Given the description of an element on the screen output the (x, y) to click on. 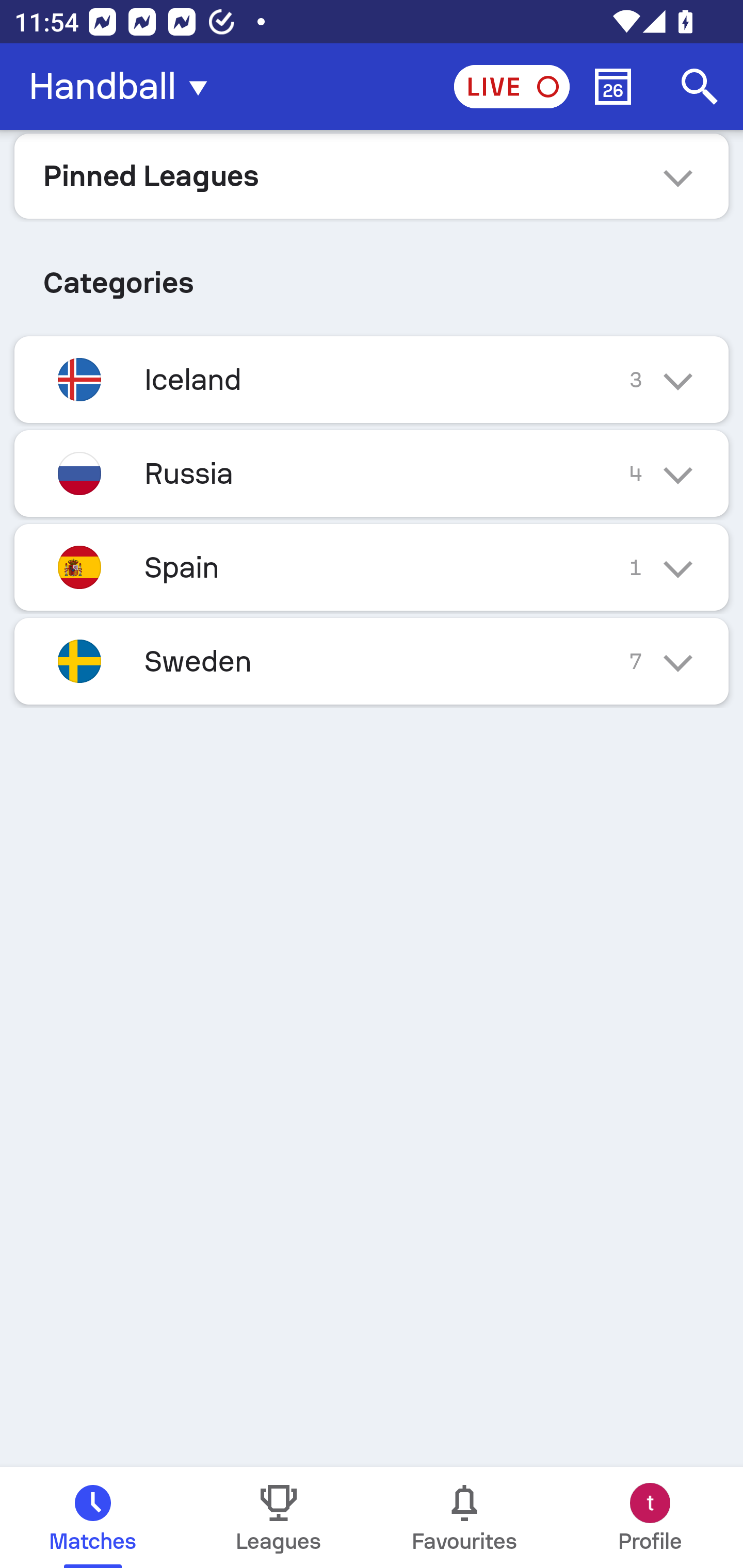
Handball (124, 86)
Calendar (612, 86)
Search (699, 86)
Pinned Leagues (371, 175)
Categories (371, 275)
Iceland 3 (371, 379)
Russia 4 (371, 473)
Spain 1 (371, 566)
Sweden 7 (371, 660)
Leagues (278, 1517)
Favourites (464, 1517)
Profile (650, 1517)
